Given the description of an element on the screen output the (x, y) to click on. 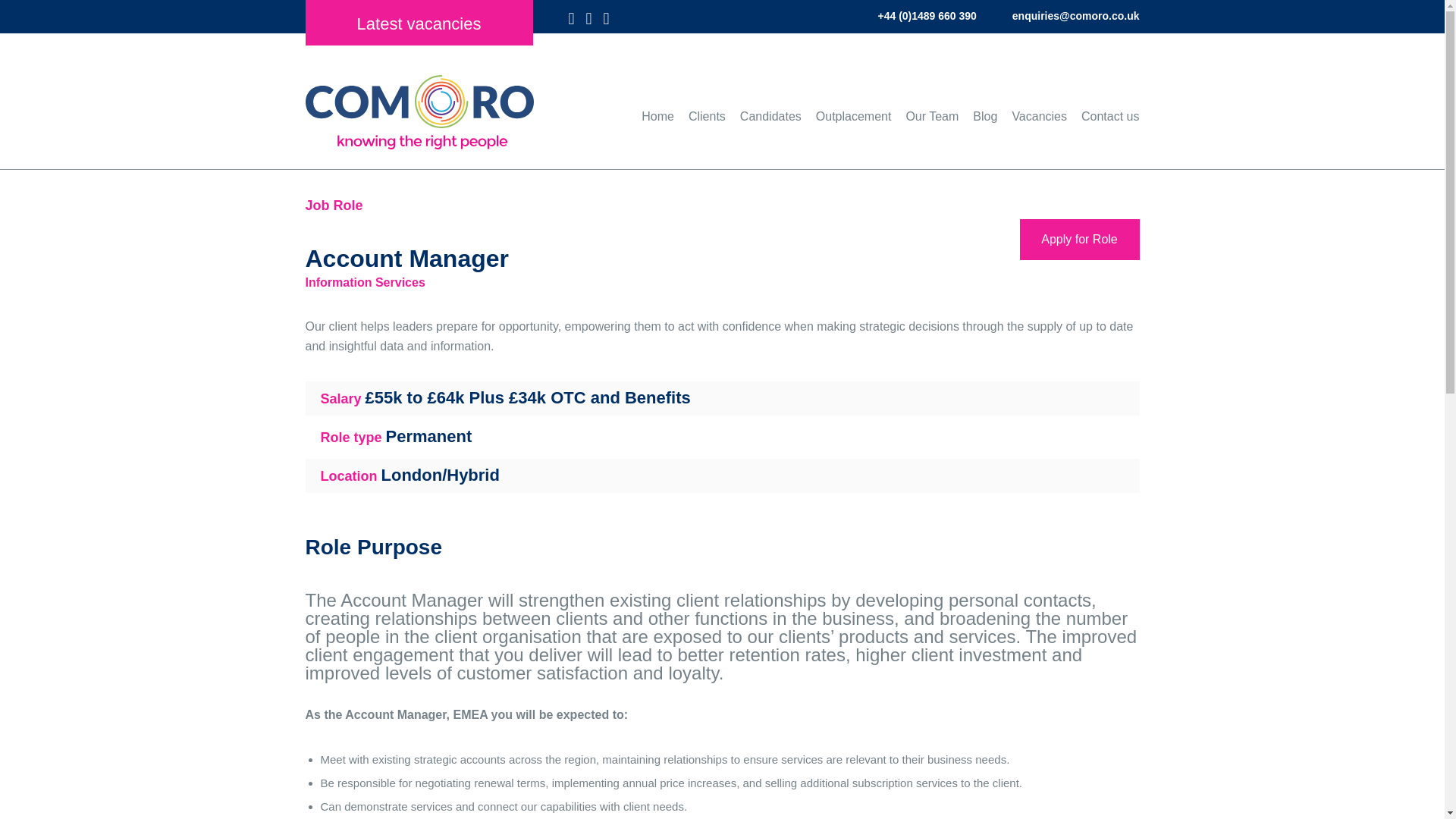
Apply for Role (1078, 239)
Outplacement (853, 115)
Contact us (1109, 115)
Blog (984, 115)
Latest vacancies (418, 22)
Home (658, 115)
Candidates (770, 115)
Clients (706, 115)
Our Team (931, 115)
Vacancies (1039, 115)
